Given the description of an element on the screen output the (x, y) to click on. 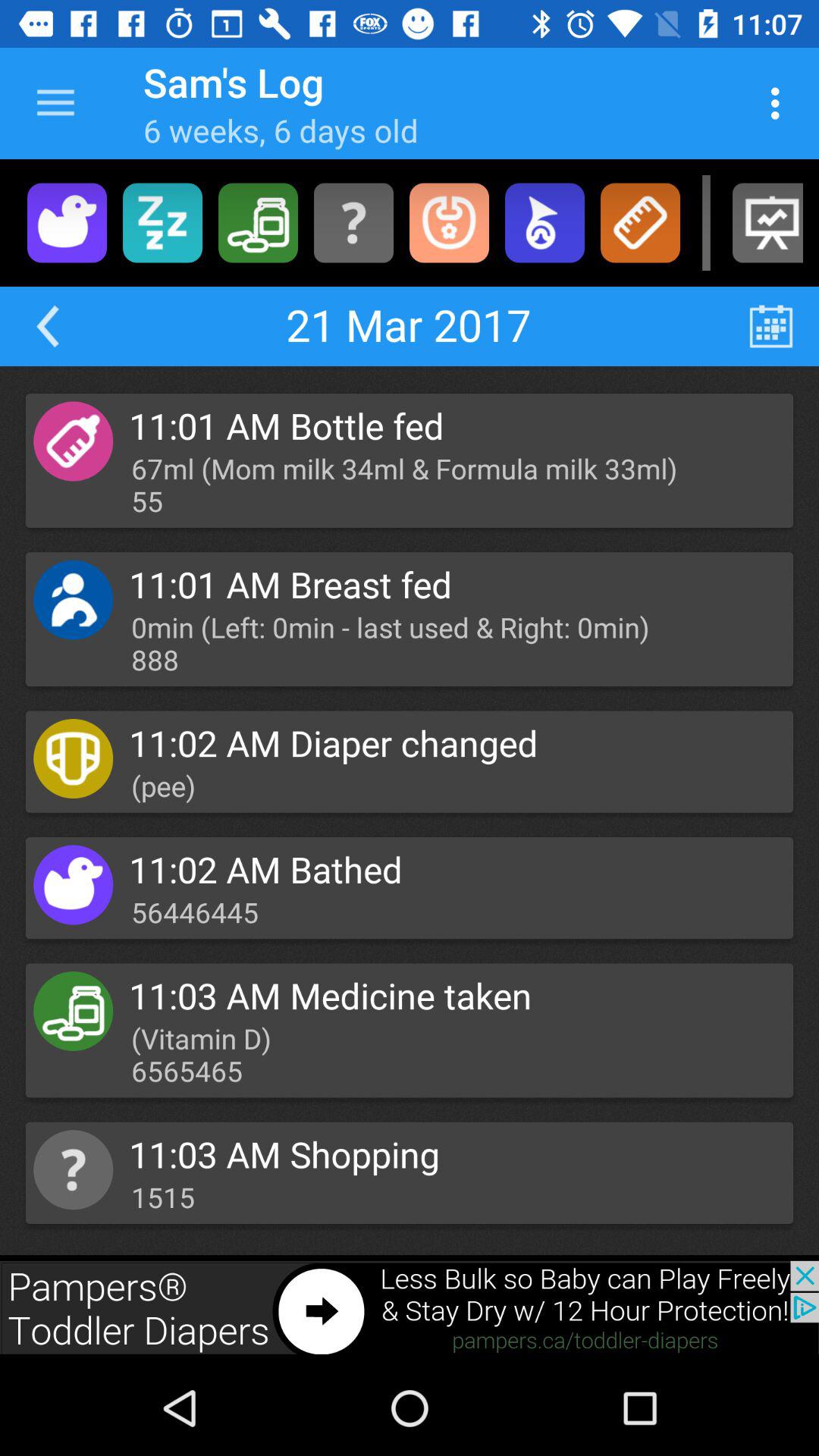
choose pills (258, 222)
